Given the description of an element on the screen output the (x, y) to click on. 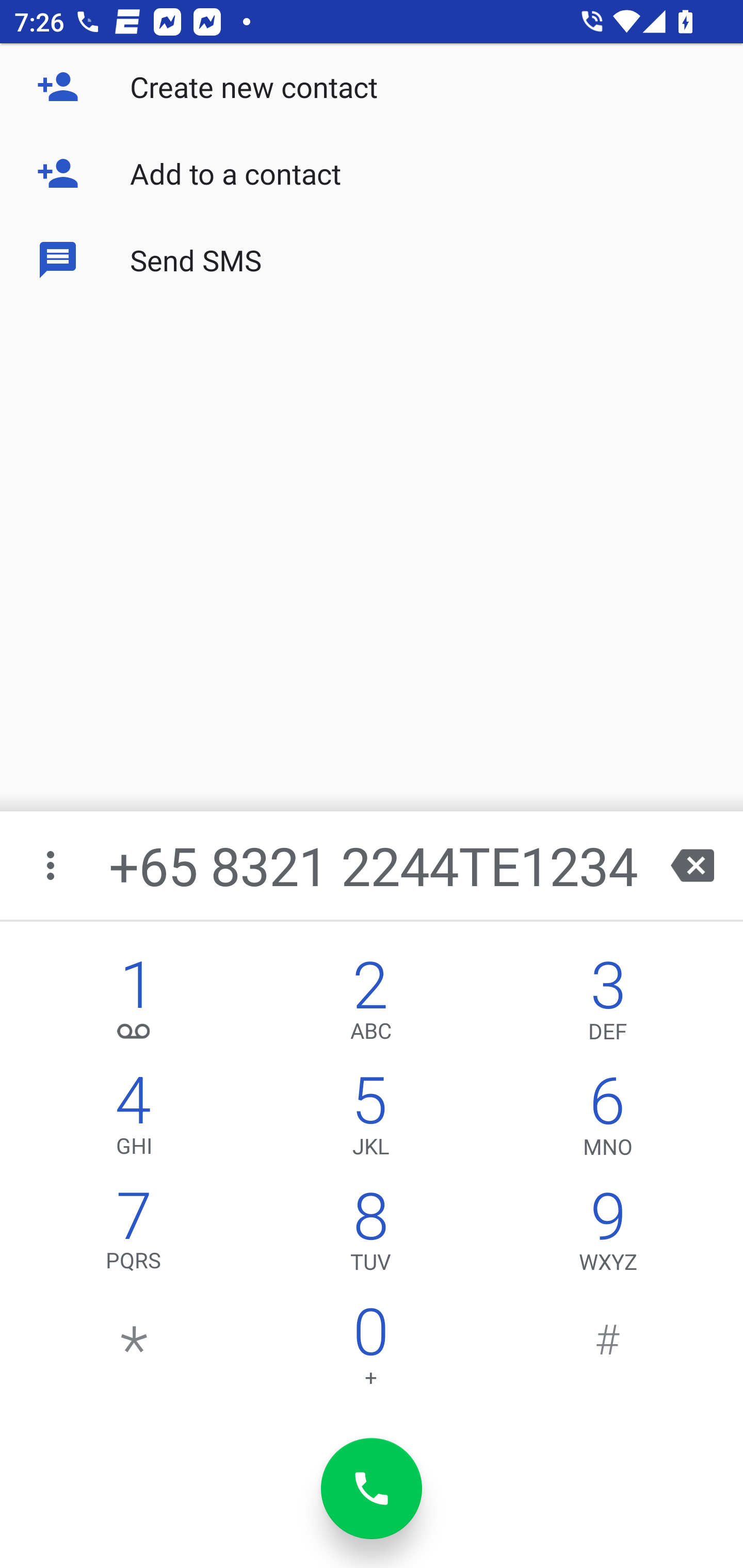
Create new contact (371, 86)
Add to a contact (371, 173)
Send SMS (371, 259)
+65 8321 2244TE1234 (372, 865)
backspace (692, 865)
More options (52, 865)
1, 1 (133, 1005)
2,ABC 2 ABC (370, 1005)
3,DEF 3 DEF (607, 1005)
4,GHI 4 GHI (133, 1120)
5,JKL 5 JKL (370, 1120)
6,MNO 6 MNO (607, 1120)
7,PQRS 7 PQRS (133, 1235)
8,TUV 8 TUV (370, 1235)
9,WXYZ 9 WXYZ (607, 1235)
* (133, 1351)
0 0 + (370, 1351)
# (607, 1351)
dial (371, 1488)
